Given the description of an element on the screen output the (x, y) to click on. 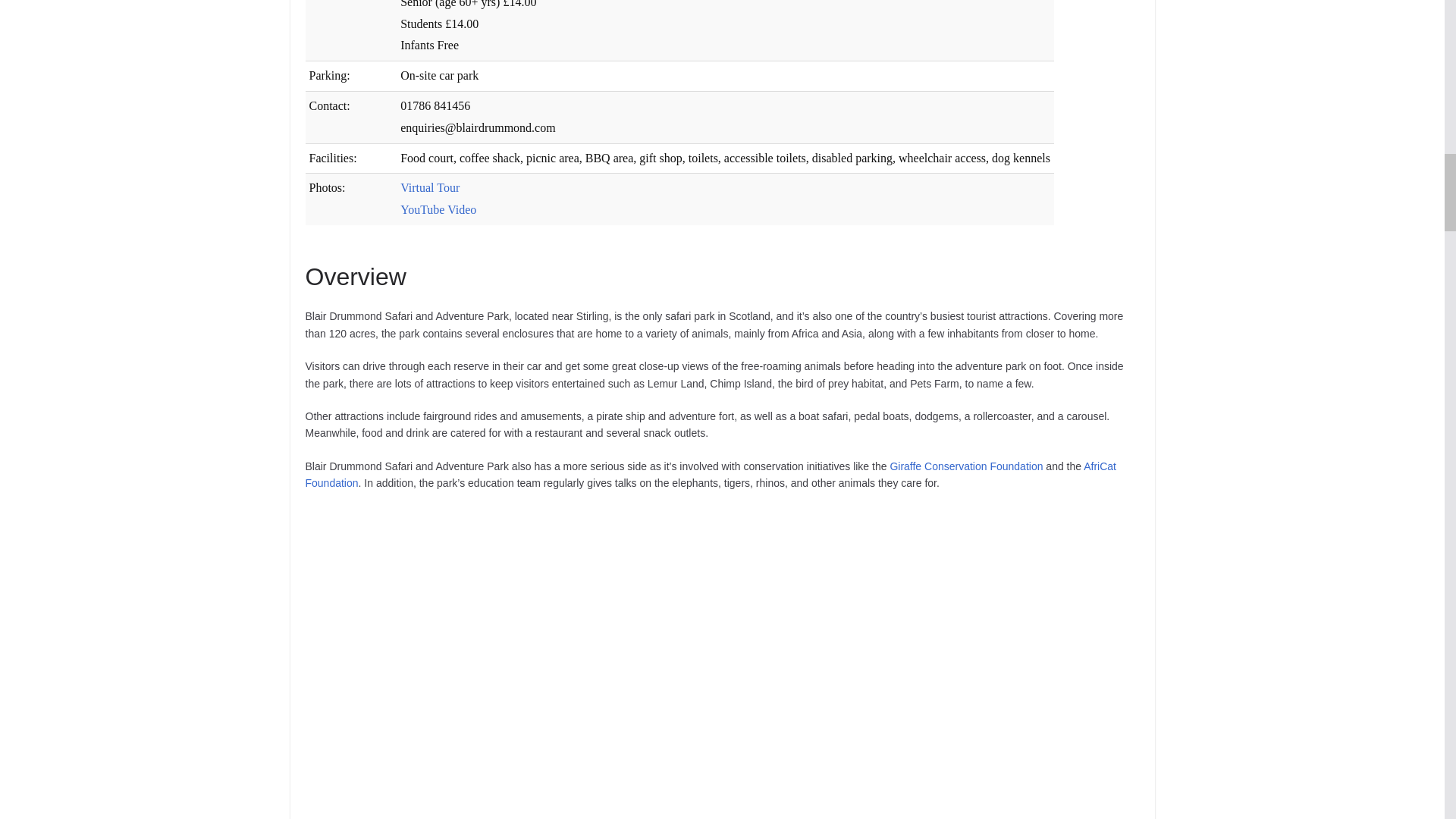
AfriCat Foundation (710, 474)
Giraffe Conservation Foundation (965, 466)
Virtual Tour (430, 187)
YouTube Video (438, 209)
